Given the description of an element on the screen output the (x, y) to click on. 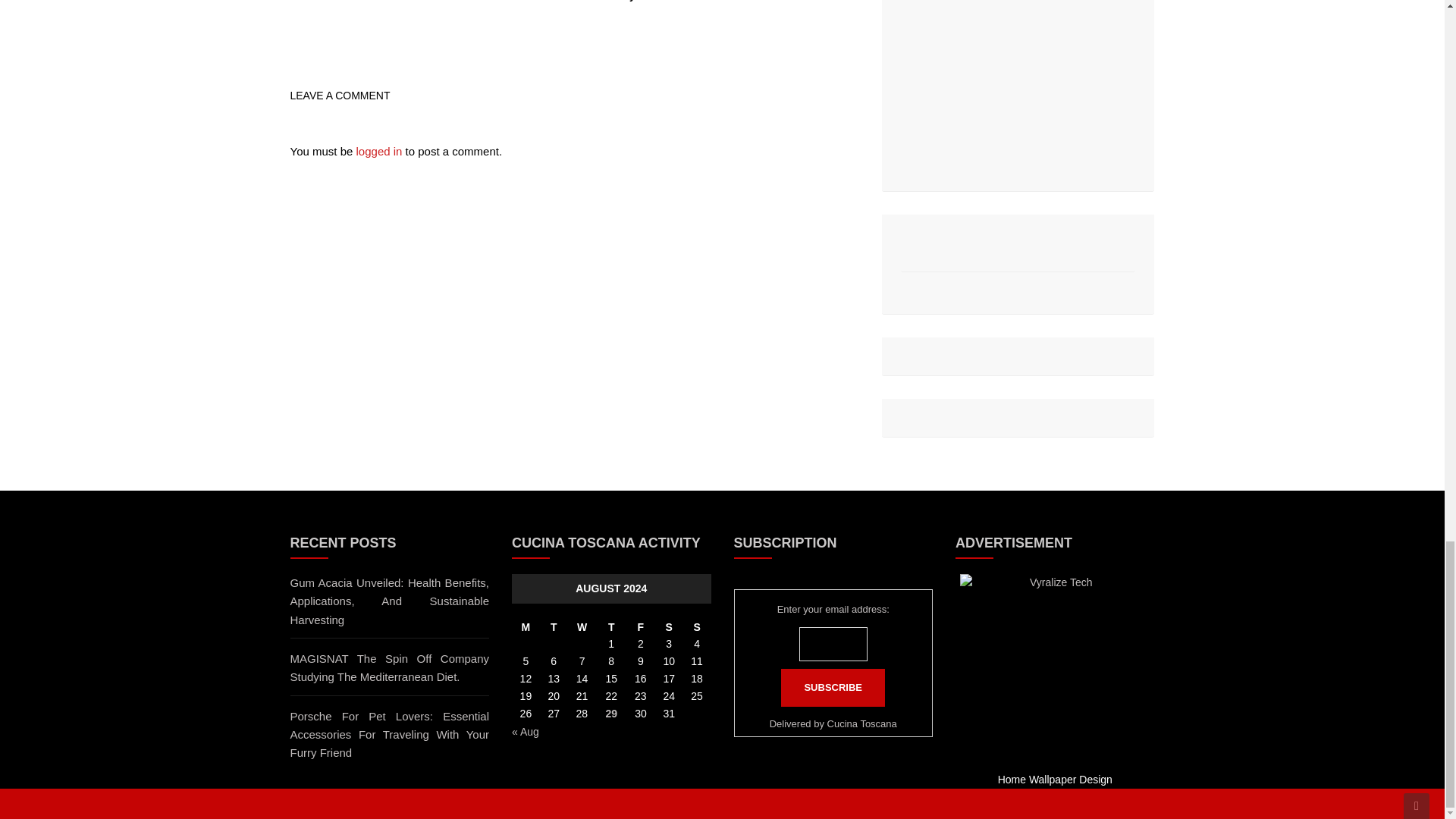
Wednesday (581, 627)
Friday (640, 627)
Subscribe (832, 687)
Monday (526, 627)
Tuesday (553, 627)
logged in (379, 151)
Thursday (611, 627)
